Given the description of an element on the screen output the (x, y) to click on. 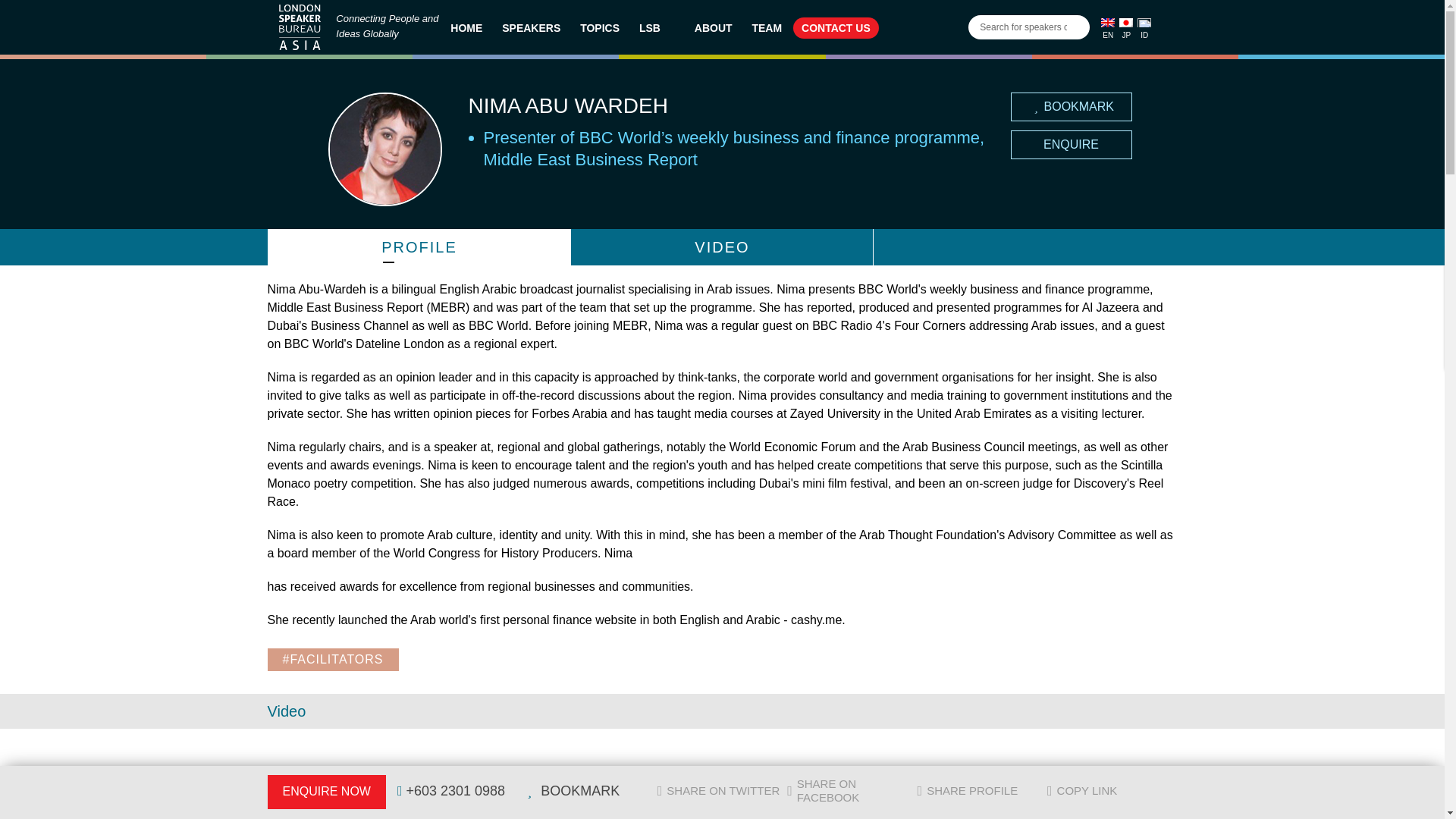
VIDEO (721, 247)
BOOKMARK (1070, 106)
LSB (656, 27)
CONTACT US (836, 27)
ENQUIRE (1070, 144)
TOPICS (599, 27)
HOME (466, 27)
PROFILE (418, 247)
ABOUT (713, 27)
SPEAKERS (531, 27)
